Given the description of an element on the screen output the (x, y) to click on. 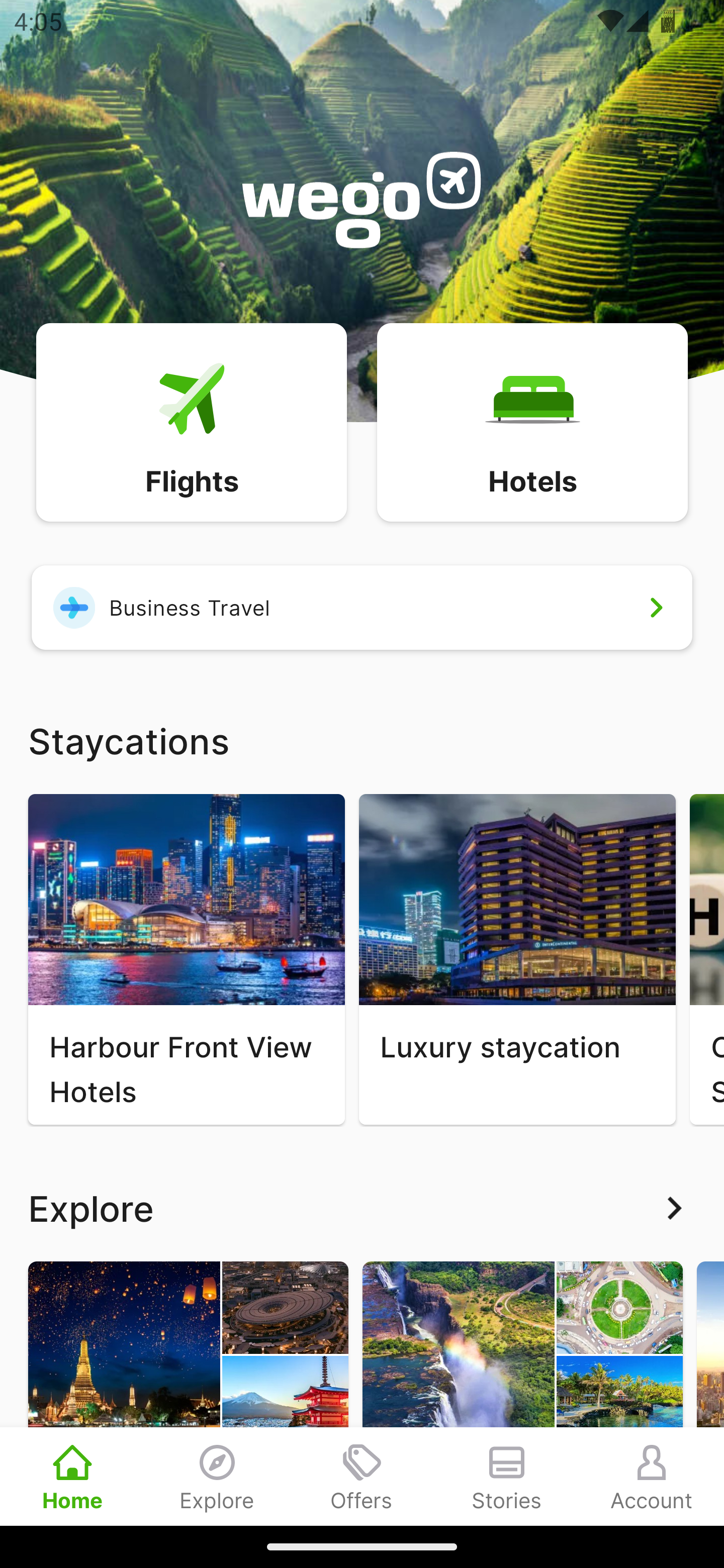
Flights (191, 420)
Hotels (532, 420)
Business Travel (361, 607)
Staycations (362, 739)
Harbour Front View Hotels (186, 958)
Luxury staycation (517, 958)
Explore (362, 1207)
Popular Destinations (188, 1392)
Visa-free Countries (522, 1392)
Explore (216, 1475)
Offers (361, 1475)
Stories (506, 1475)
Account (651, 1475)
